Given the description of an element on the screen output the (x, y) to click on. 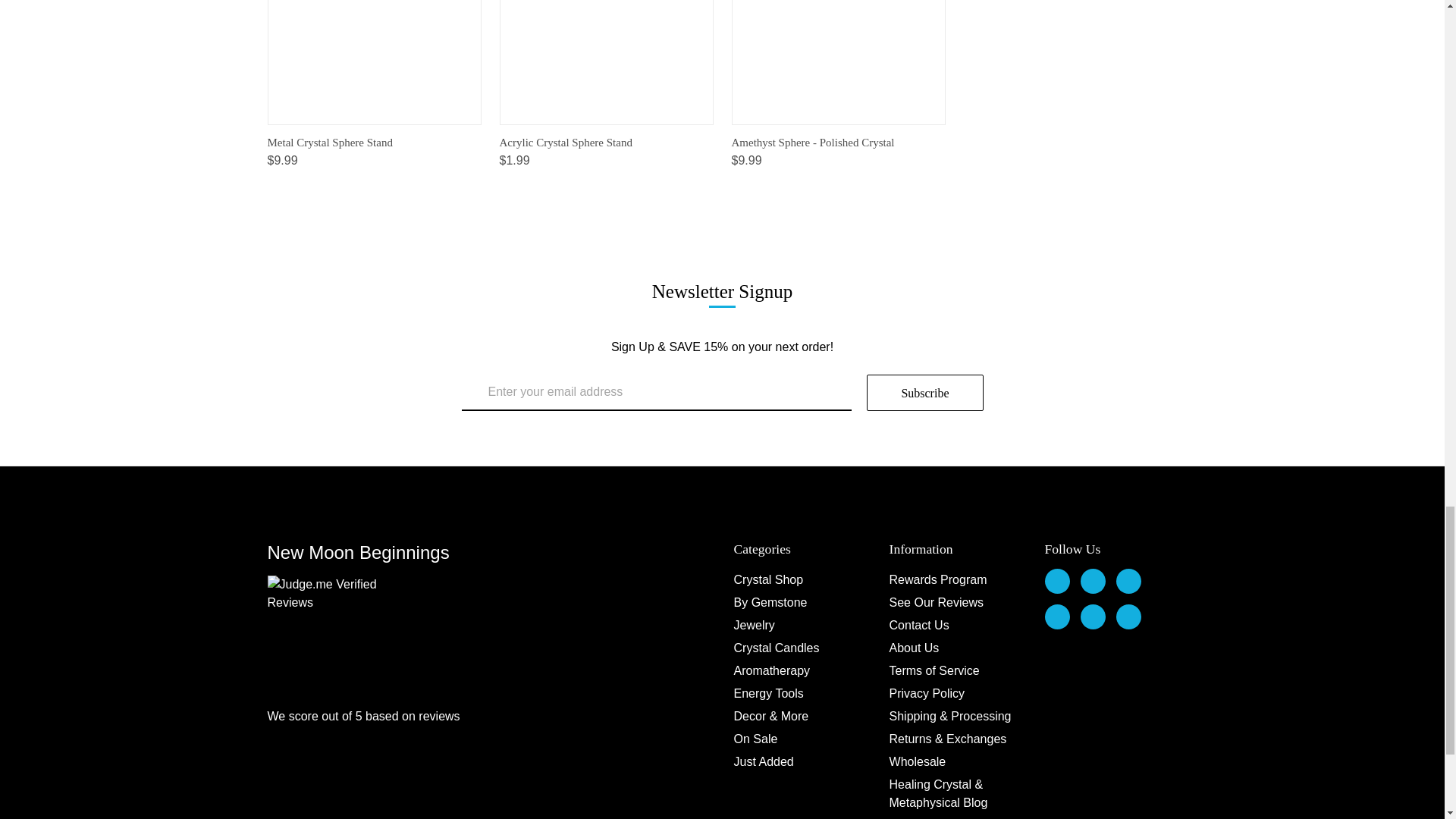
Acrylic Crystal Sphere Stand (606, 62)
Subscribe (924, 392)
Amethyst Sphere - Polished Crystal (838, 62)
Metal Crystal Sphere Stand (373, 48)
